Given the description of an element on the screen output the (x, y) to click on. 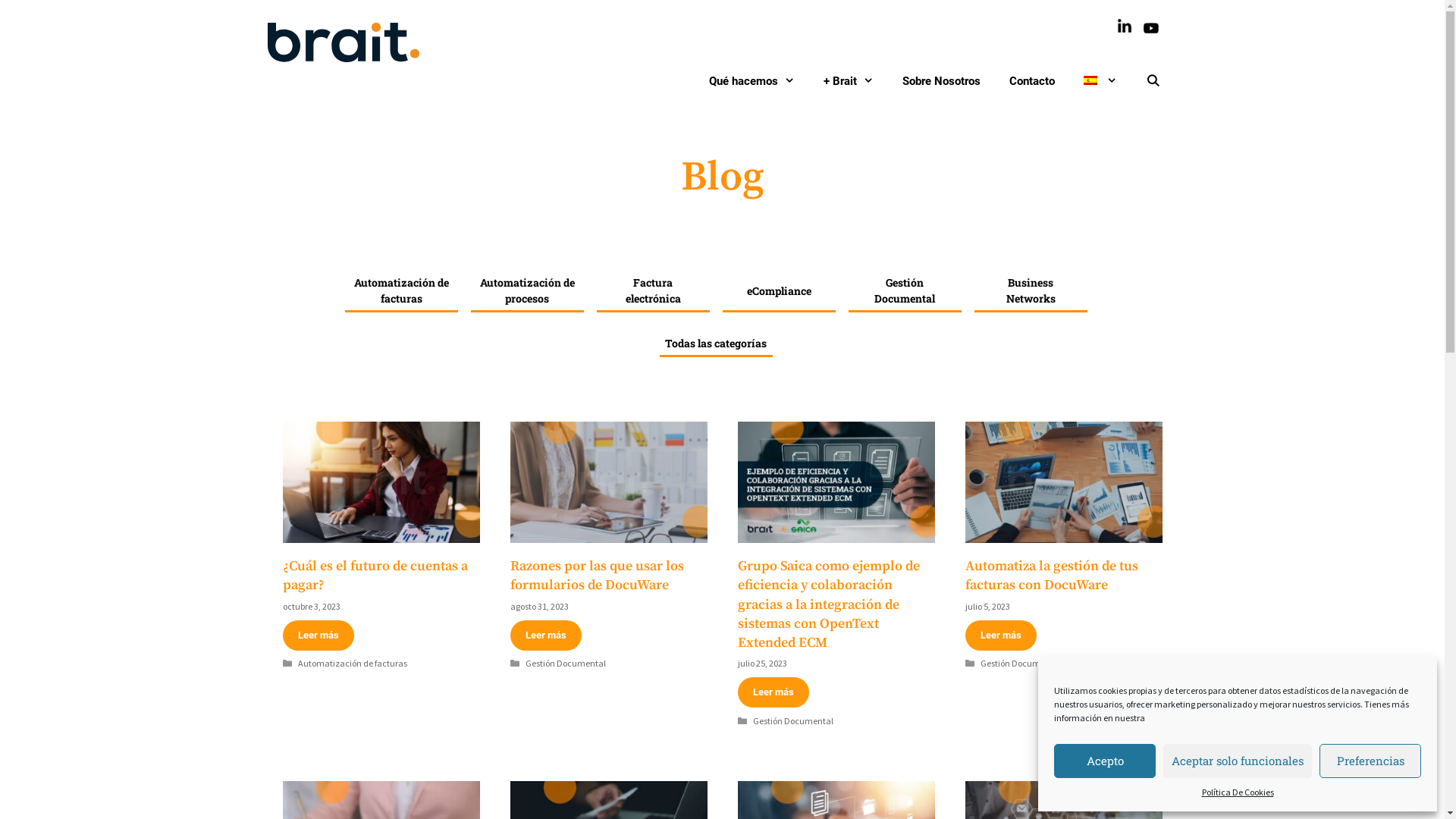
Aceptar solo funcionales Element type: text (1237, 760)
Acepto Element type: text (1104, 760)
Razones por las que usar los formularios de DocuWare Element type: text (596, 575)
Brait Element type: hover (342, 41)
+ Brait Element type: text (850, 81)
Brait Element type: hover (342, 42)
eCompliance Element type: text (777, 290)
Contacto Element type: text (1034, 81)
Business
Networks Element type: text (1029, 290)
Preferencias Element type: text (1370, 760)
Sobre Nosotros Element type: text (943, 81)
